Given the description of an element on the screen output the (x, y) to click on. 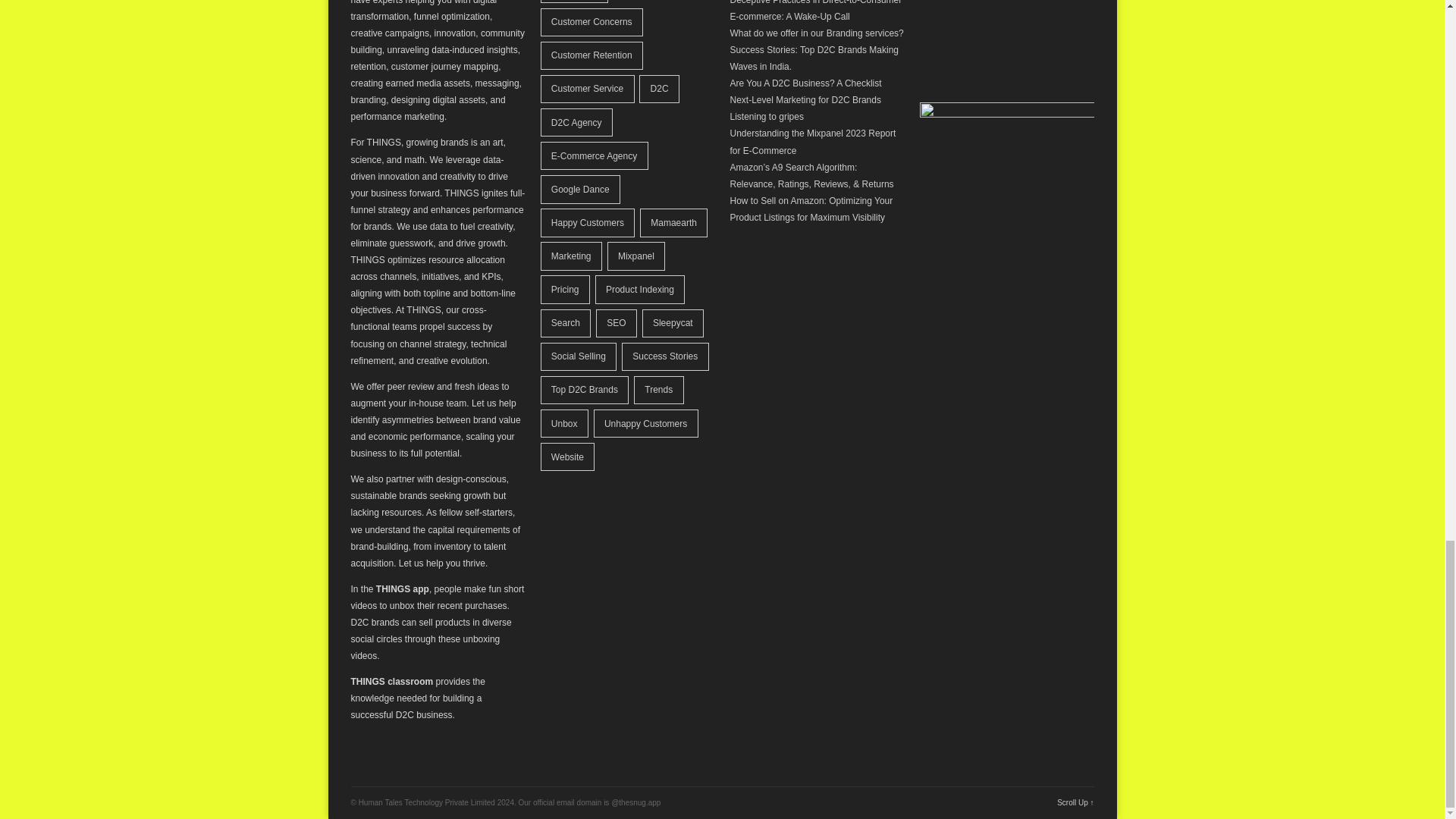
Spotify Embed: Things (1005, 34)
Scroll Up (1075, 802)
